Given the description of an element on the screen output the (x, y) to click on. 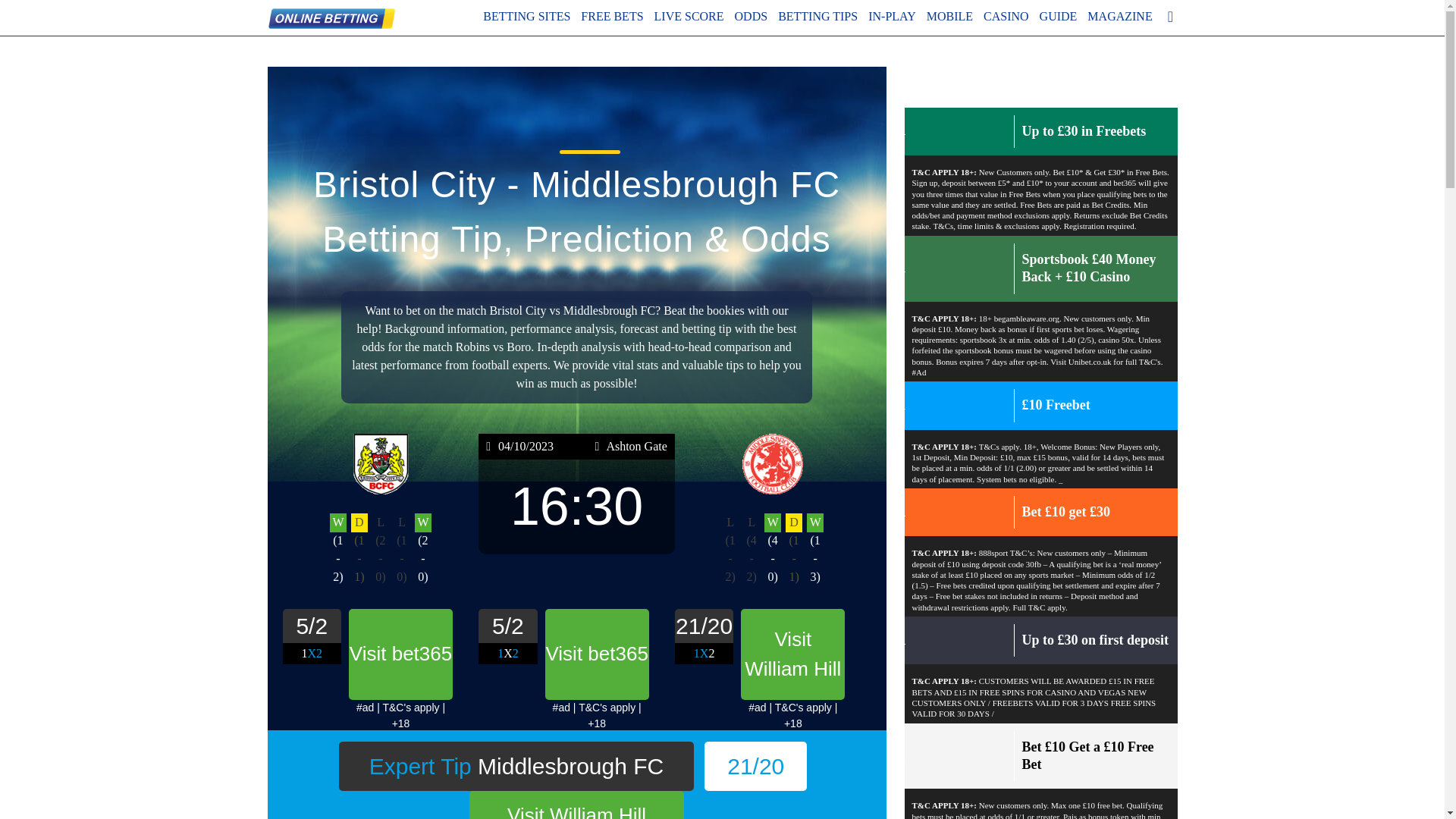
CASINO (1006, 16)
BETTING SITES (526, 16)
Visit bet365 (596, 654)
BETTING TIPS (817, 16)
Visit bet365 (400, 654)
GUIDE (1058, 16)
FREE BETS (611, 16)
Visit William Hill (576, 805)
ODDS (751, 16)
MAGAZINE (1119, 16)
